Given the description of an element on the screen output the (x, y) to click on. 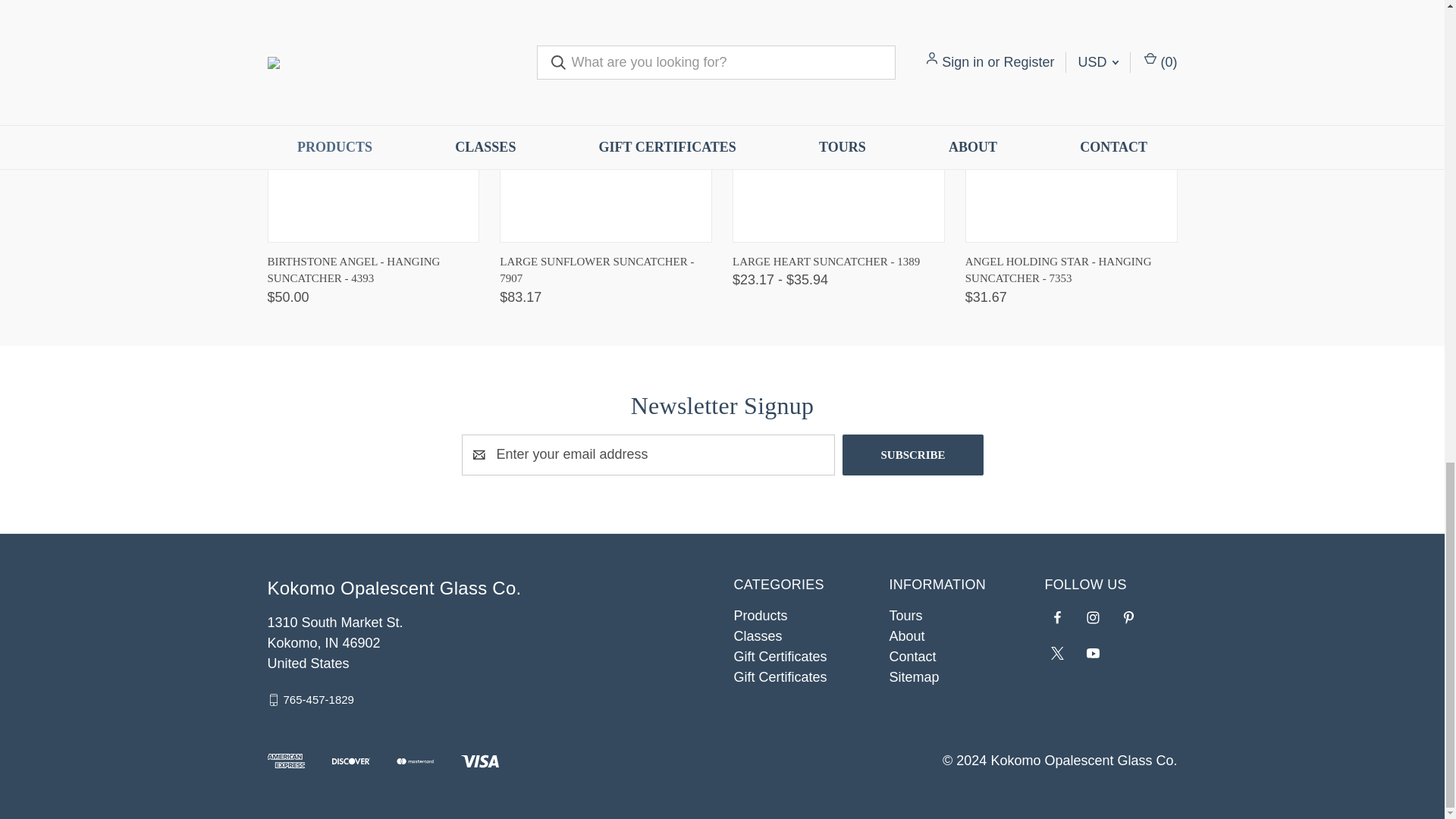
Angel Holding Star Suncatcher in Pink and Blue (1071, 134)
Birthstone Angel Art Glass Suncatchers (372, 134)
Subscribe (912, 454)
Large single heart art glass suncatcher in red (838, 134)
